Given the description of an element on the screen output the (x, y) to click on. 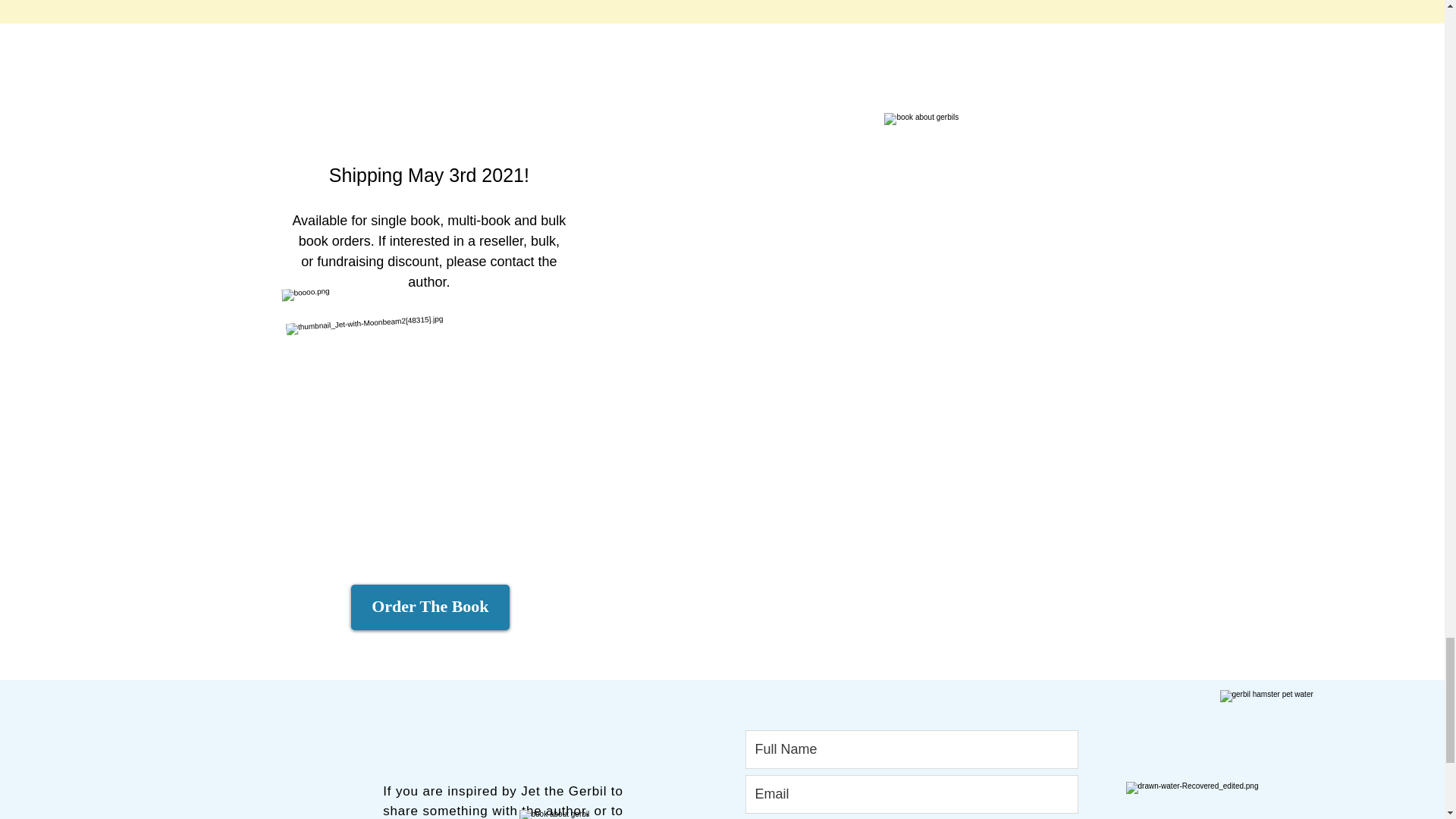
Order The Book (429, 606)
